Given the description of an element on the screen output the (x, y) to click on. 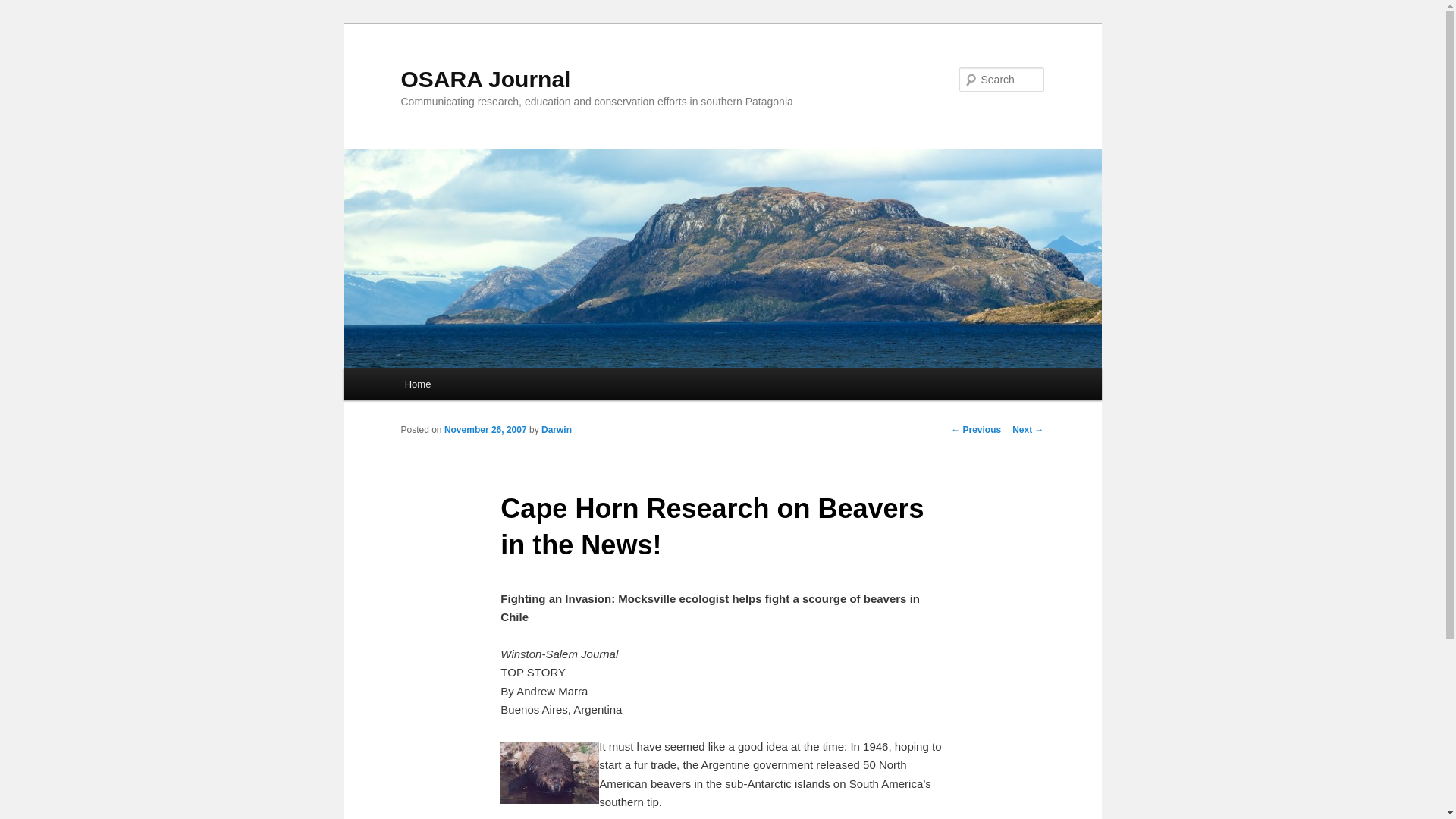
5:32 am (485, 429)
beaver5.JPG (549, 772)
Home (417, 383)
OSARA Journal (485, 78)
November 26, 2007 (485, 429)
View all posts by Darwin (556, 429)
Search (24, 8)
Darwin (556, 429)
